Given the description of an element on the screen output the (x, y) to click on. 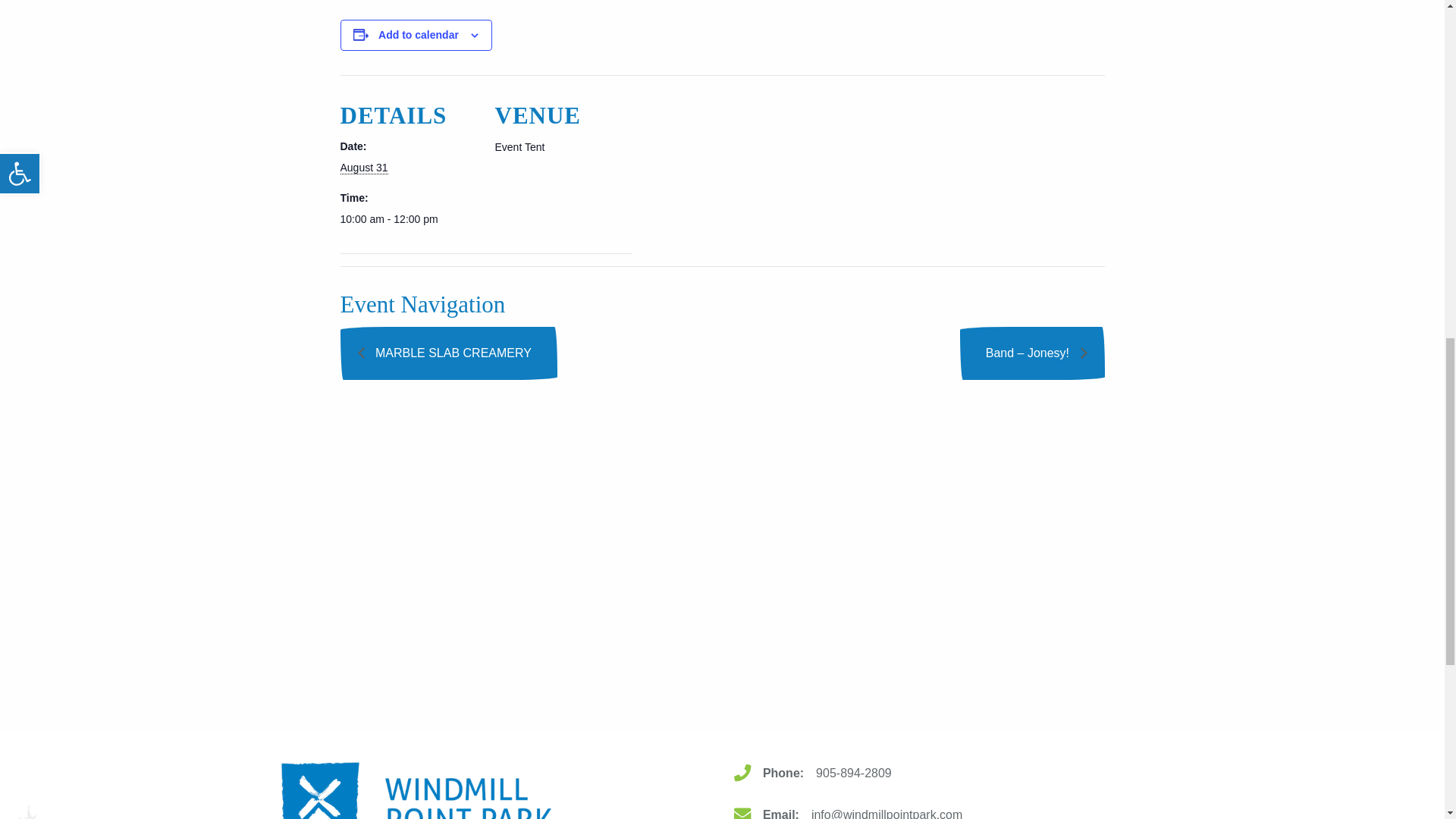
2024-08-31 (363, 167)
2024-08-31 (407, 219)
